Given the description of an element on the screen output the (x, y) to click on. 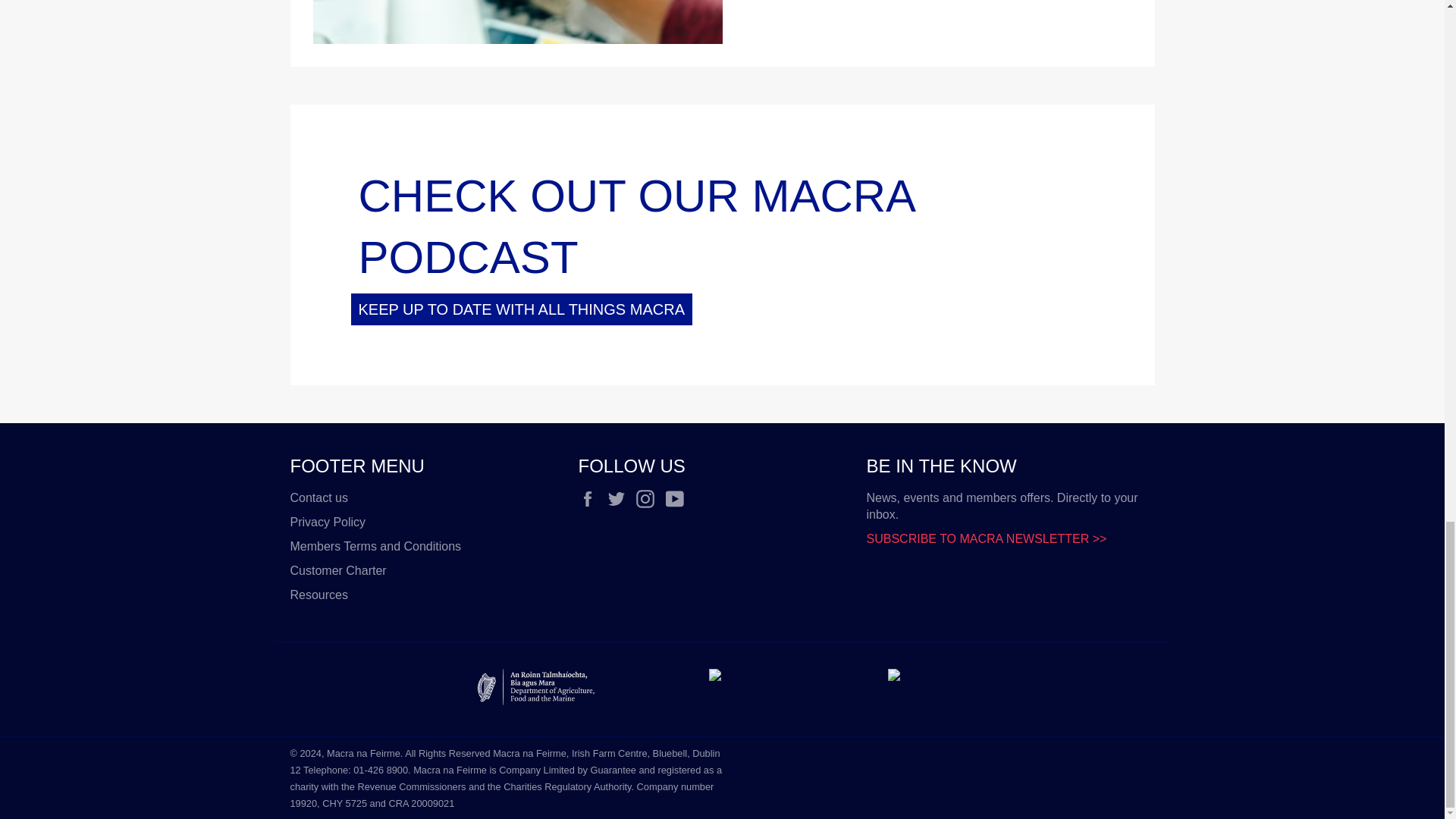
Macra na Feirme on Twitter (620, 498)
Macra na Feirme on YouTube (678, 498)
Subscribe to Macra Newslletter (986, 538)
Macra na Feirme on Instagram (649, 498)
Macra na Feirme on Facebook (591, 498)
